Given the description of an element on the screen output the (x, y) to click on. 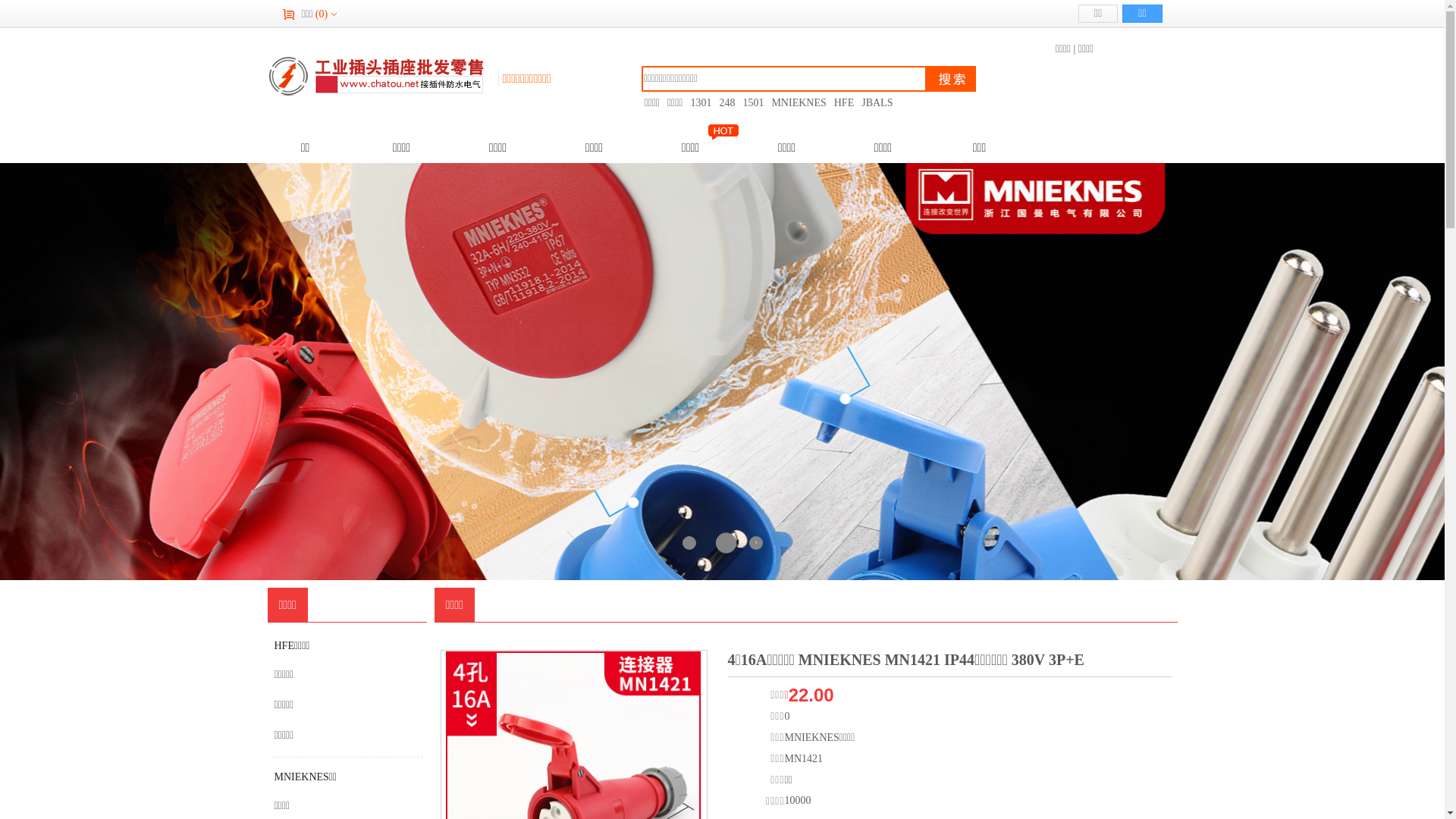
1501 Element type: text (752, 102)
MNIEKNES Element type: text (798, 102)
248 Element type: text (726, 102)
1301 Element type: text (700, 102)
JBALS Element type: text (876, 102)
| Element type: text (1074, 48)
HFE Element type: text (843, 102)
1 Element type: text (689, 542)
3 Element type: text (755, 542)
2 Element type: text (722, 542)
JOSHOR Element type: hover (374, 75)
